Given the description of an element on the screen output the (x, y) to click on. 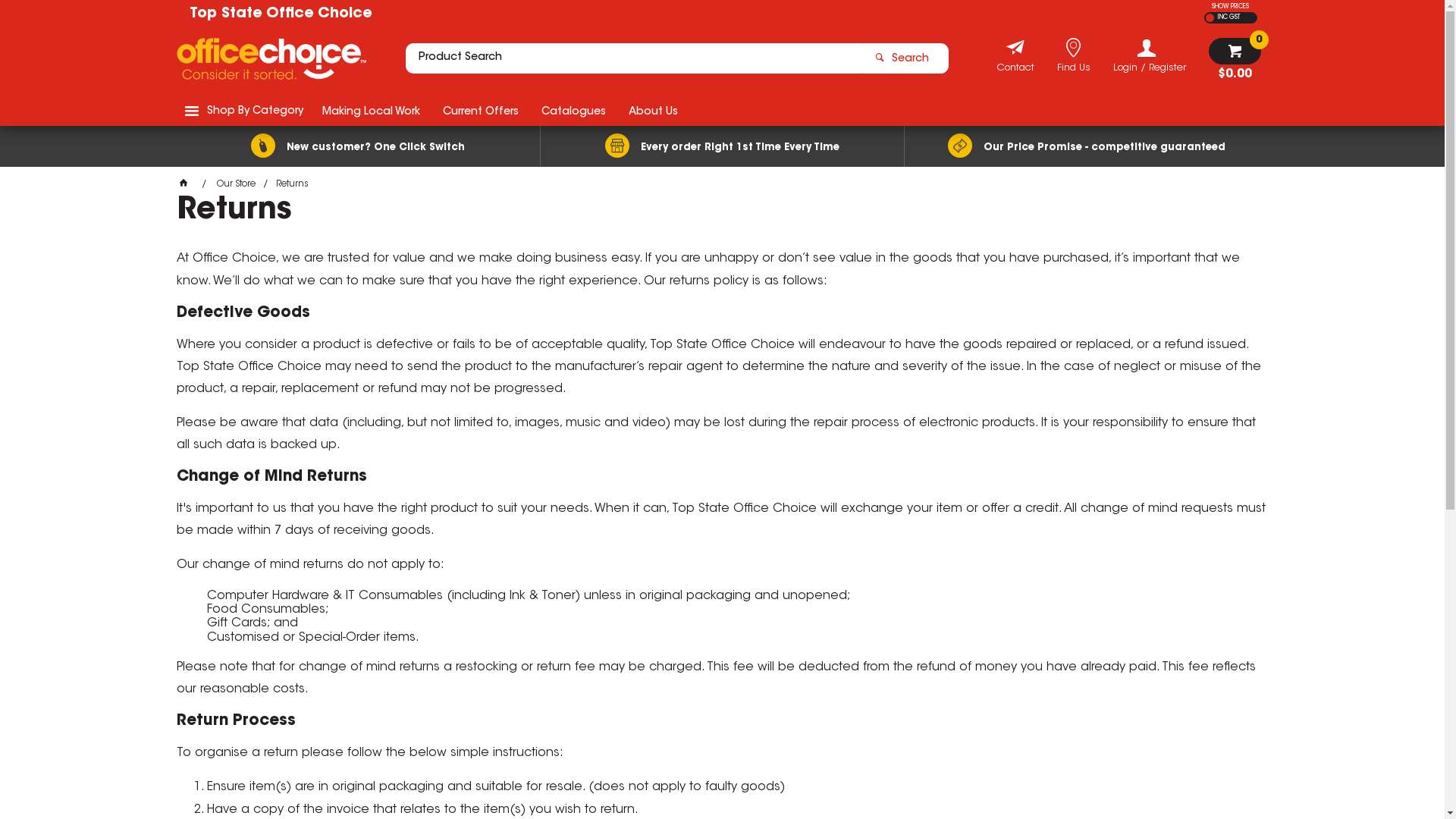
About Us Element type: text (653, 110)
Current Offers Element type: text (479, 110)
Making Local Work Element type: text (370, 110)
Login / Register Element type: text (1149, 55)
Every order Right 1st Time Every Time Element type: text (721, 145)
Our Store Element type: text (235, 183)
Contact Element type: text (1014, 69)
Our Price Promise - competitive guaranteed Element type: text (1085, 145)
EX GST Element type: text (1209, 17)
Find Us Element type: text (1073, 69)
New customer? One Click Switch Element type: text (357, 145)
$0.00
0 Element type: text (1234, 59)
INC GST Element type: text (1226, 17)
Search Element type: text (904, 58)
Catalogues Element type: text (572, 110)
